Given the description of an element on the screen output the (x, y) to click on. 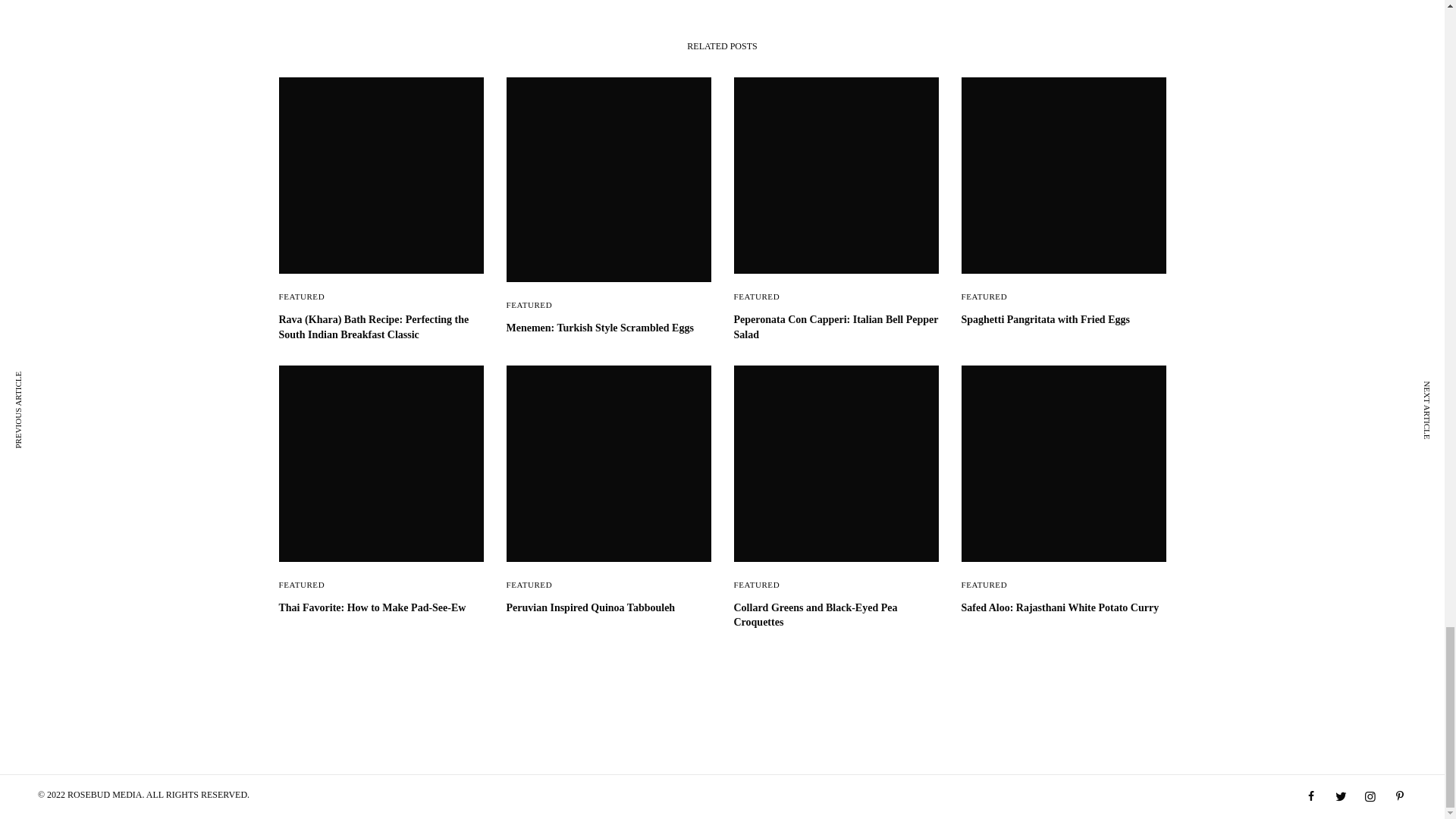
Peperonata Con Capperi: Italian Bell Pepper Salad (836, 327)
Safed Aloo: Rajasthani White Potato Curry (1063, 607)
Peruvian Inspired Quinoa Tabbouleh (608, 607)
Spaghetti Pangritata with Fried Eggs (1063, 319)
Collard Greens and Black-Eyed Pea Croquettes (836, 614)
Thai Favorite: How to Make Pad-See-Ew (381, 607)
Menemen: Turkish Style Scrambled Eggs (608, 328)
